Given the description of an element on the screen output the (x, y) to click on. 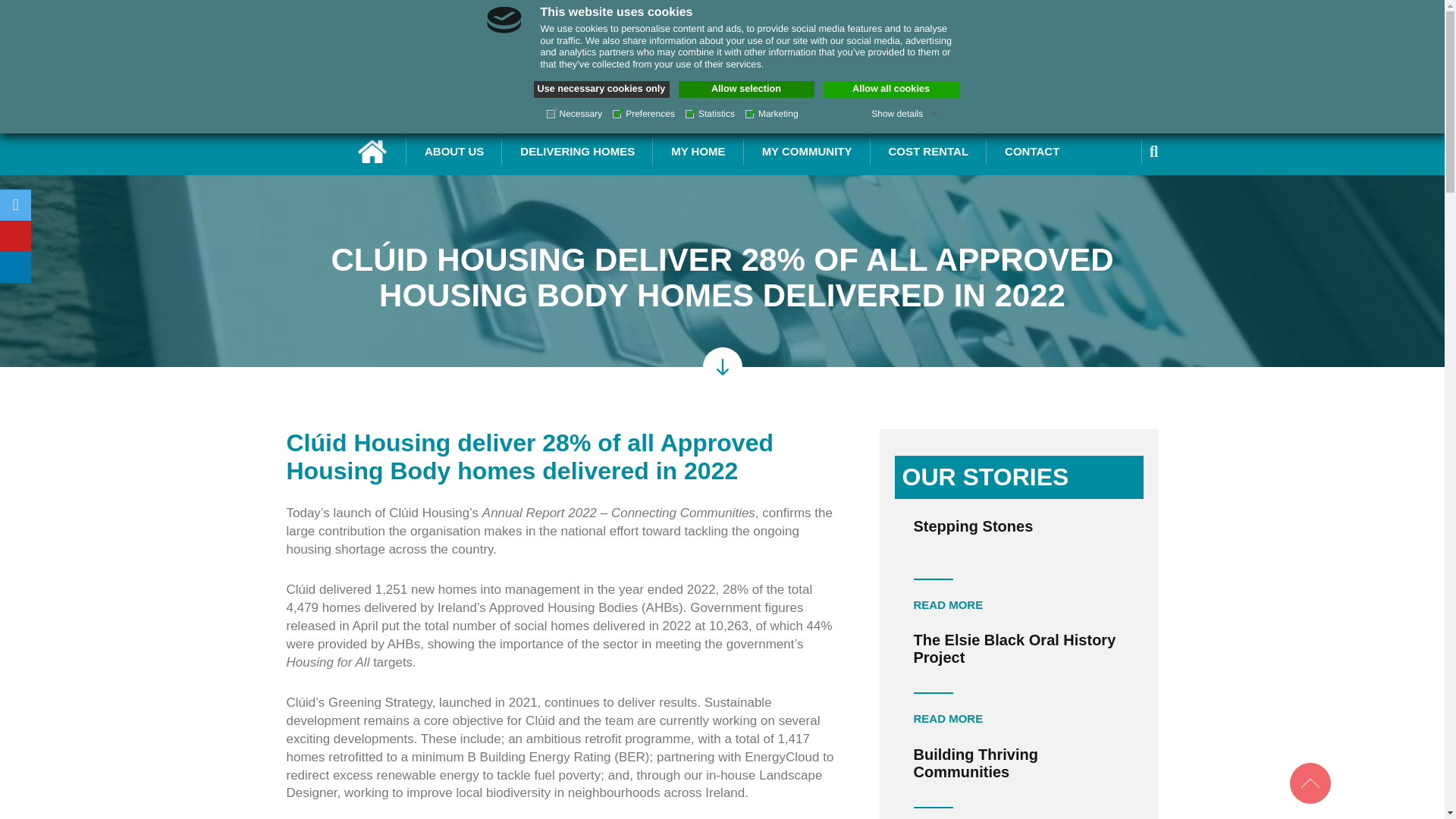
Show details (903, 113)
Allow all cookies (891, 89)
Allow selection (745, 89)
Use necessary cookies only (601, 89)
